Given the description of an element on the screen output the (x, y) to click on. 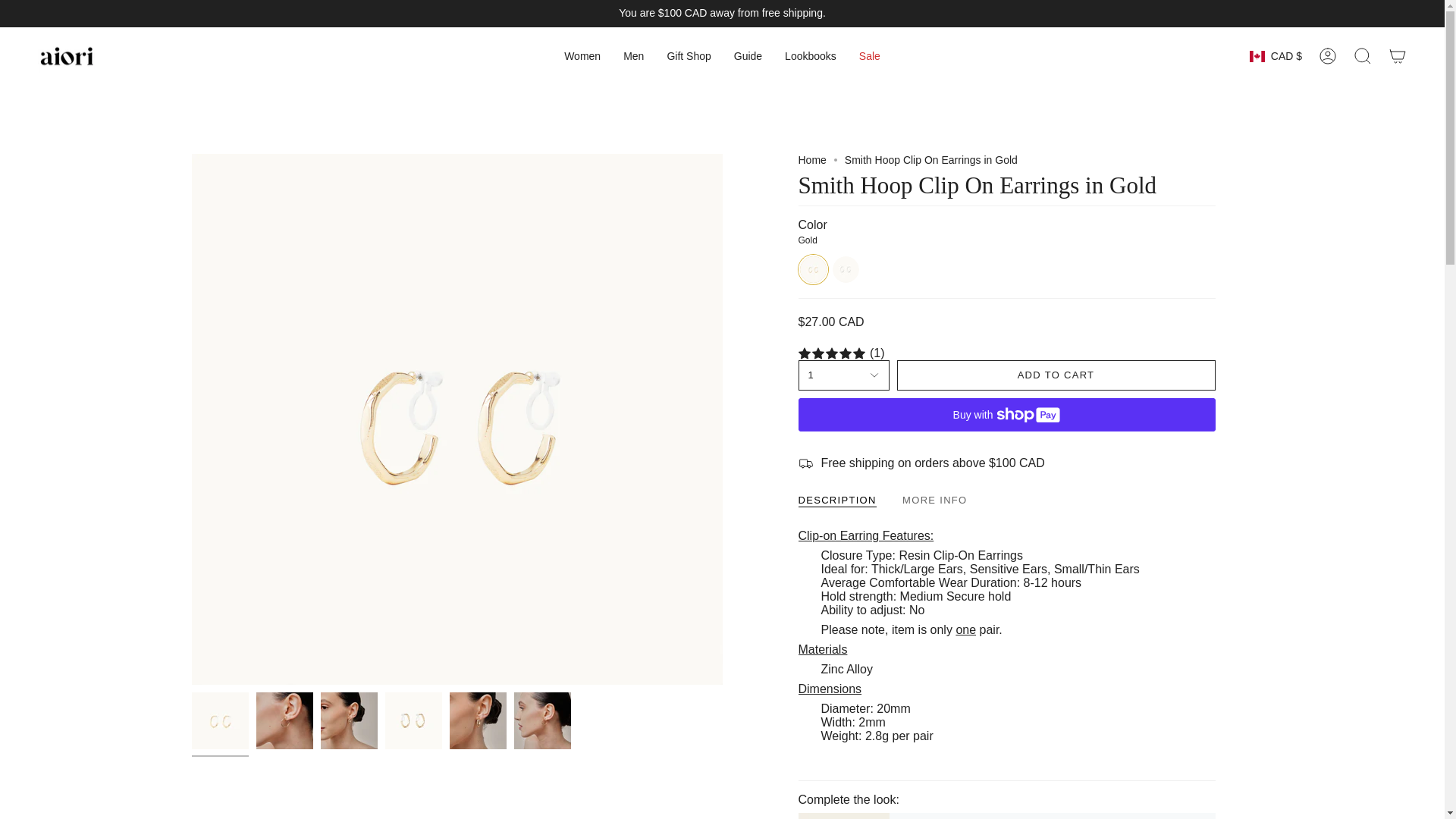
Search (1362, 55)
My Account (1327, 55)
Cart (1397, 55)
